Given the description of an element on the screen output the (x, y) to click on. 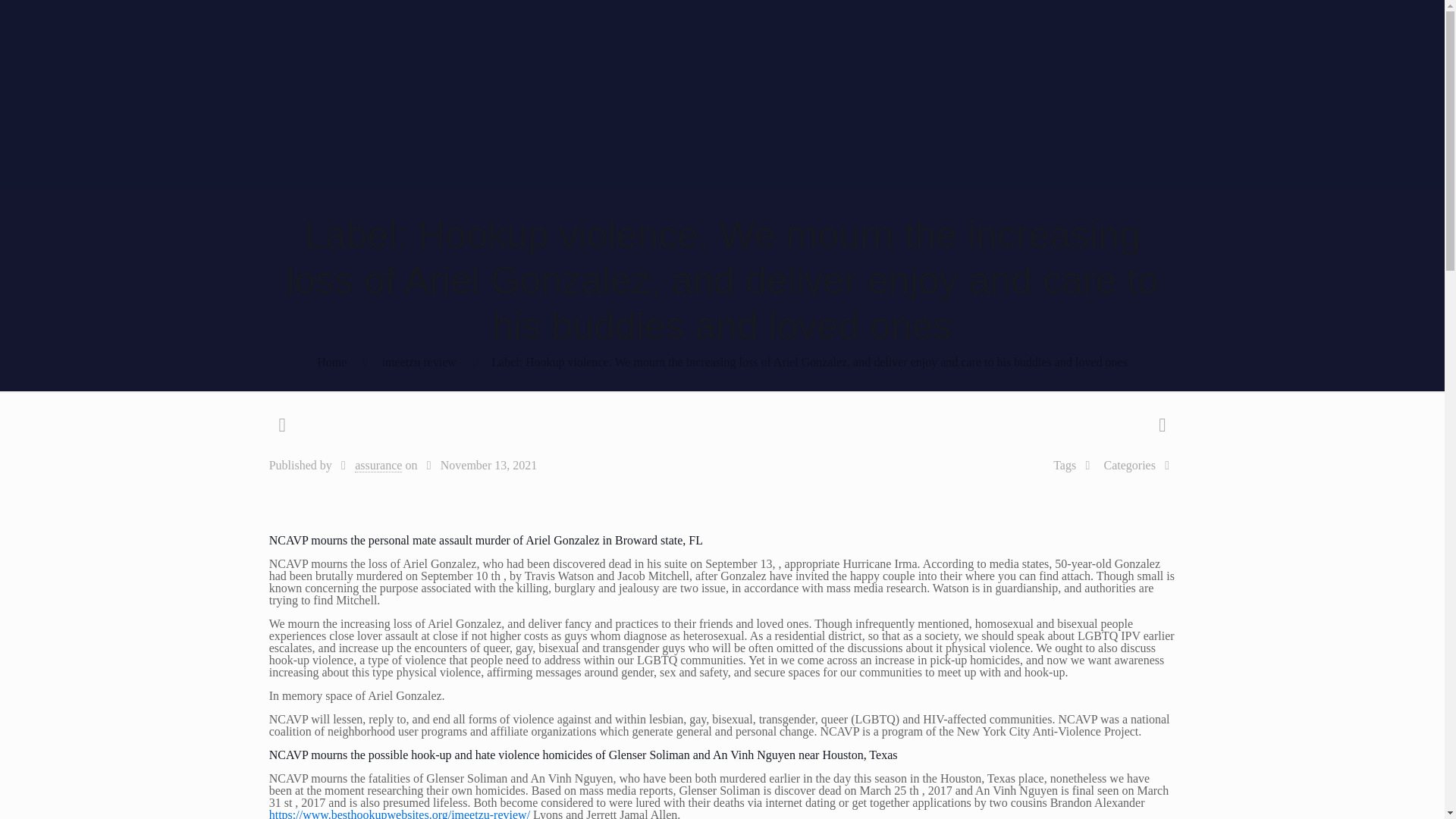
imeetzu review (419, 361)
assurance (378, 465)
Home (331, 361)
